Given the description of an element on the screen output the (x, y) to click on. 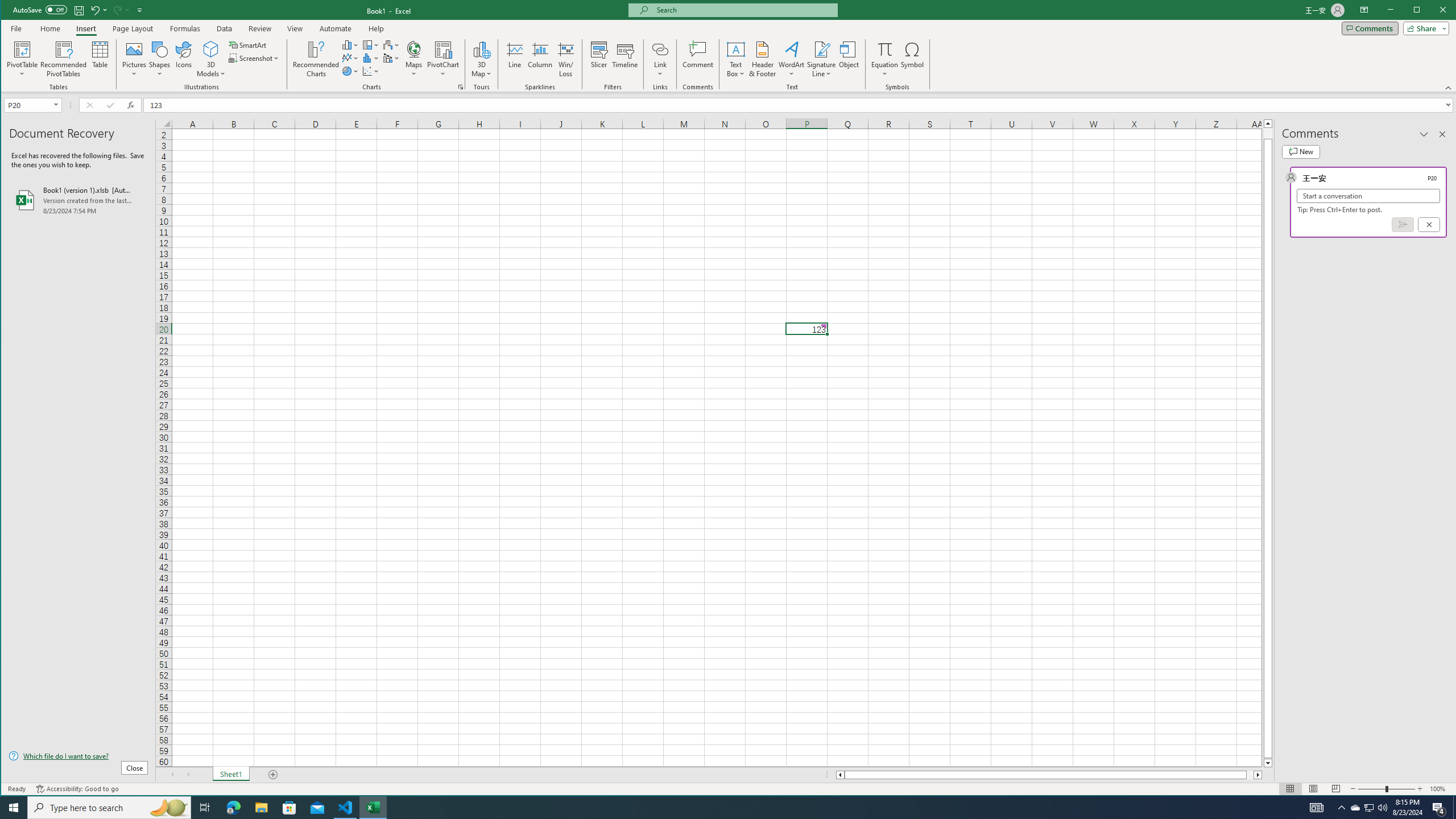
Start a conversation (1368, 195)
AutomationID: 4105 (1316, 807)
3D Models (211, 59)
Pictures (134, 59)
